Given the description of an element on the screen output the (x, y) to click on. 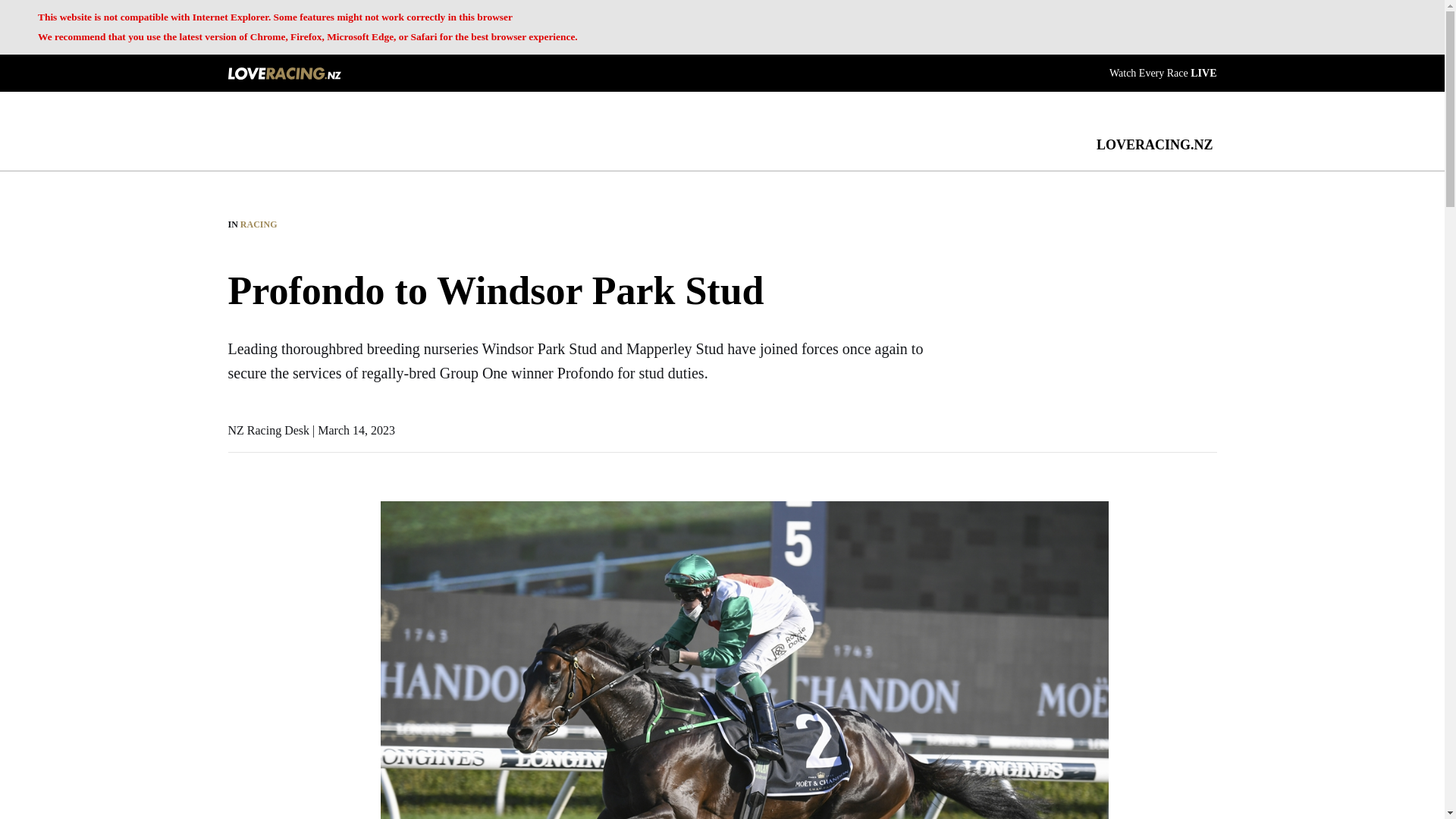
Copy Copy article link to clipboard (235, 622)
RACING (259, 224)
LinkedIn Link to share article on Twitter (235, 584)
Copy Copy article link to clipboard (235, 622)
LinkedIn Link to share article on Twitter (235, 584)
LOVERACING.NZ (1154, 143)
Twitter Link to share article on Twitter (235, 546)
Watch Every Race LIVE (1163, 71)
Twitter Link to share article on Twitter (235, 546)
Facebook Link to share article on Facebook (235, 508)
Facebook Link to share article on Facebook (235, 508)
